Given the description of an element on the screen output the (x, y) to click on. 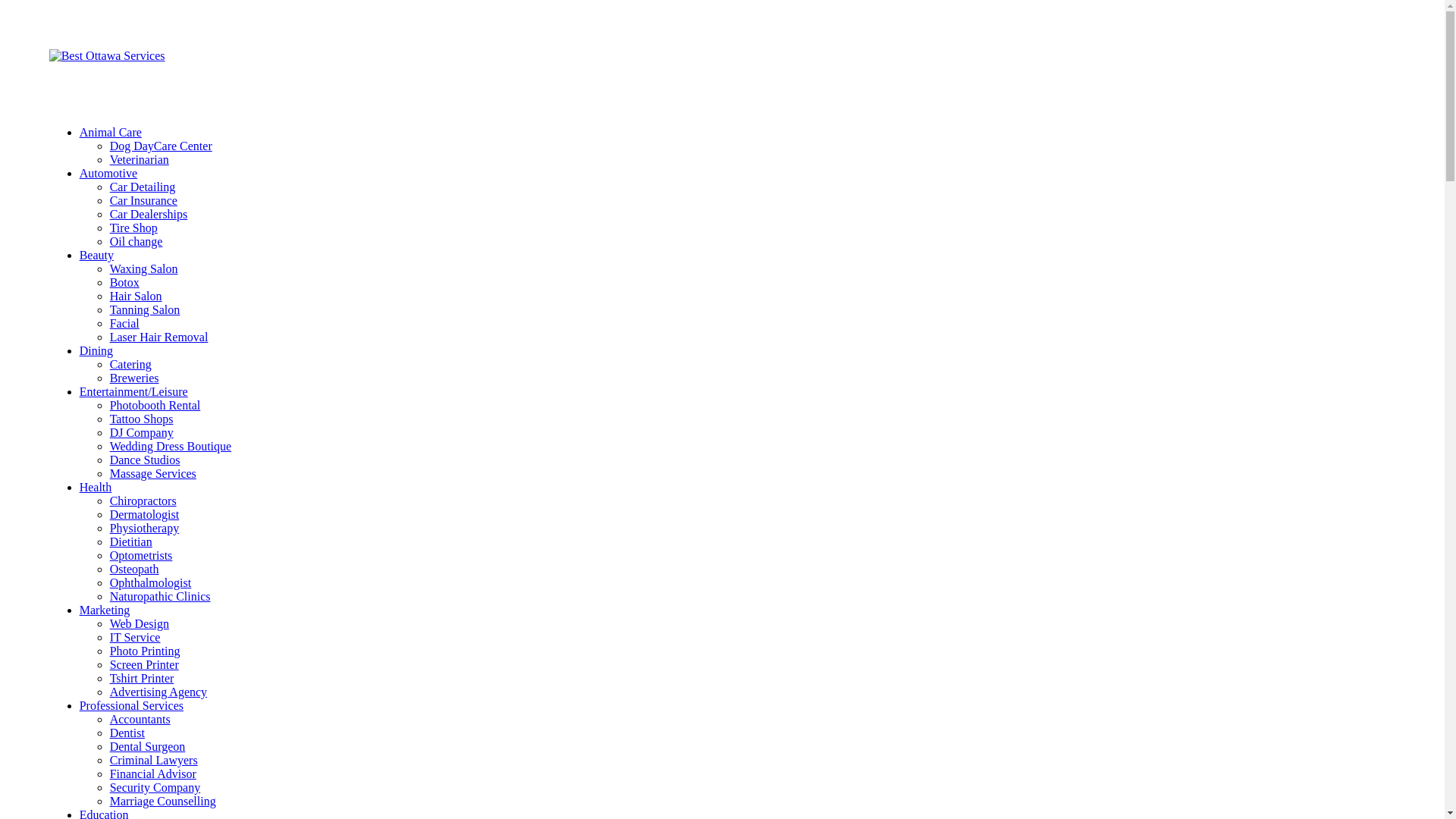
Dentist Element type: text (126, 732)
Dermatologist Element type: text (144, 514)
Tattoo Shops Element type: text (141, 418)
Professional Services Element type: text (131, 705)
Dance Studios Element type: text (144, 459)
Facial Element type: text (124, 322)
Dental Surgeon Element type: text (147, 746)
IT Service Element type: text (134, 636)
Marriage Counselling Element type: text (162, 800)
Financial Advisor Element type: text (152, 773)
Marketing Element type: text (104, 609)
Massage Services Element type: text (152, 473)
Photobooth Rental Element type: text (154, 404)
Screen Printer Element type: text (143, 664)
Beauty Element type: text (96, 254)
Botox Element type: text (124, 282)
Wedding Dress Boutique Element type: text (170, 445)
Laser Hair Removal Element type: text (158, 336)
Security Company Element type: text (154, 787)
Naturopathic Clinics Element type: text (159, 595)
Dining Element type: text (95, 350)
Dietitian Element type: text (130, 541)
Catering Element type: text (130, 363)
Optometrists Element type: text (140, 555)
Physiotherapy Element type: text (144, 527)
Breweries Element type: text (134, 377)
Tshirt Printer Element type: text (141, 677)
Criminal Lawyers Element type: text (153, 759)
Osteopath Element type: text (134, 568)
Tanning Salon Element type: text (144, 309)
Oil change Element type: text (136, 241)
Car Insurance Element type: text (143, 200)
Accountants Element type: text (139, 718)
Photo Printing Element type: text (144, 650)
Web Design Element type: text (139, 623)
Car Dealerships Element type: text (148, 213)
DJ Company Element type: text (141, 432)
Tire Shop Element type: text (133, 227)
Ophthalmologist Element type: text (150, 582)
Automotive Element type: text (108, 172)
Waxing Salon Element type: text (143, 268)
Car Detailing Element type: text (142, 186)
Dog DayCare Center Element type: text (160, 145)
Chiropractors Element type: text (142, 500)
Hair Salon Element type: text (135, 295)
Entertainment/Leisure Element type: text (133, 391)
Veterinarian Element type: text (139, 159)
Health Element type: text (95, 486)
Advertising Agency Element type: text (158, 691)
Animal Care Element type: text (110, 131)
